Given the description of an element on the screen output the (x, y) to click on. 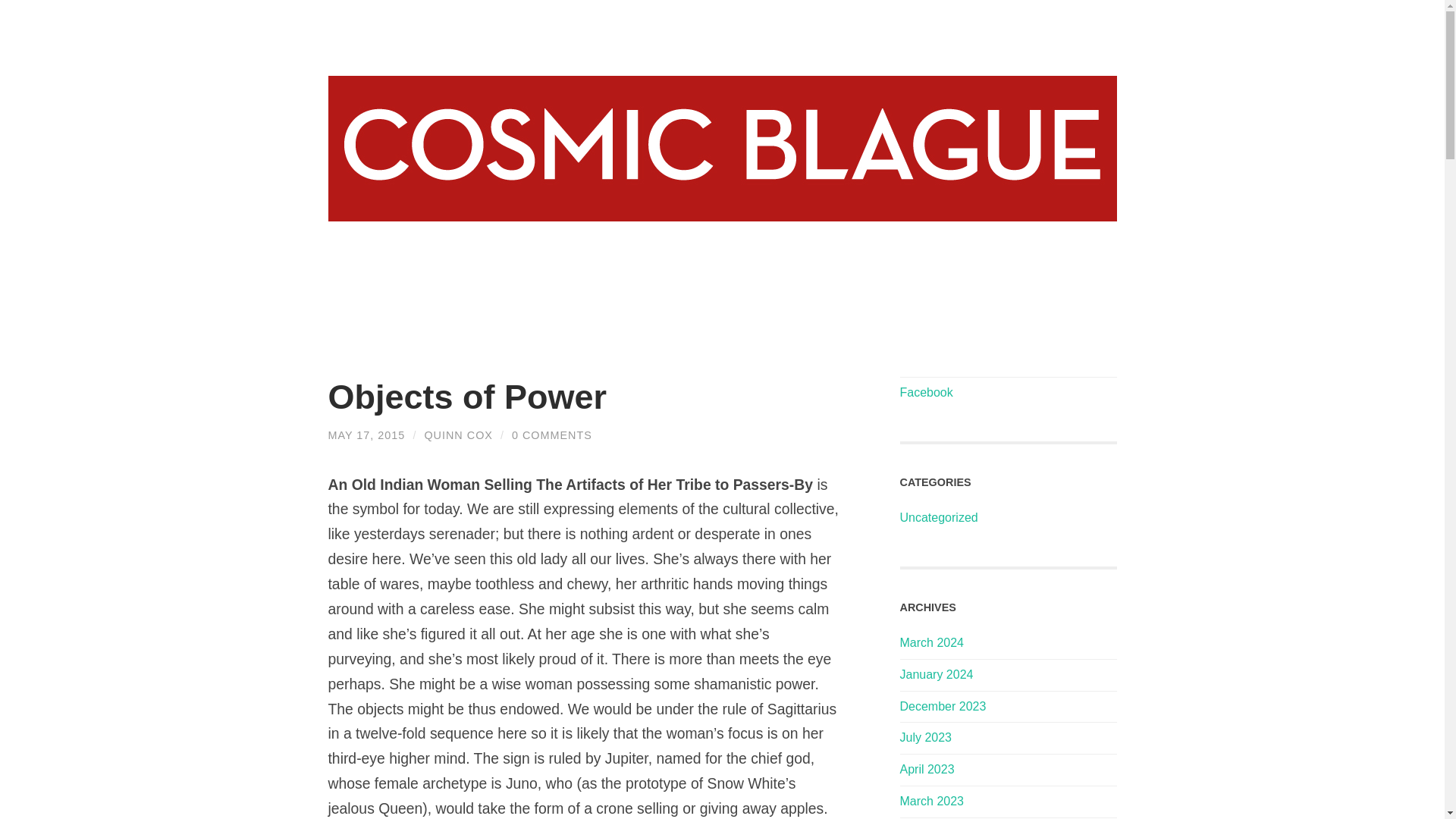
Objects of Power (467, 396)
QUINN COX (458, 435)
March 2023 (931, 800)
April 2023 (926, 768)
Objects of Power (467, 396)
Facebook (925, 391)
Uncategorized (937, 517)
January 2024 (935, 674)
Posts by Quinn Cox (458, 435)
0 COMMENTS (552, 435)
